Given the description of an element on the screen output the (x, y) to click on. 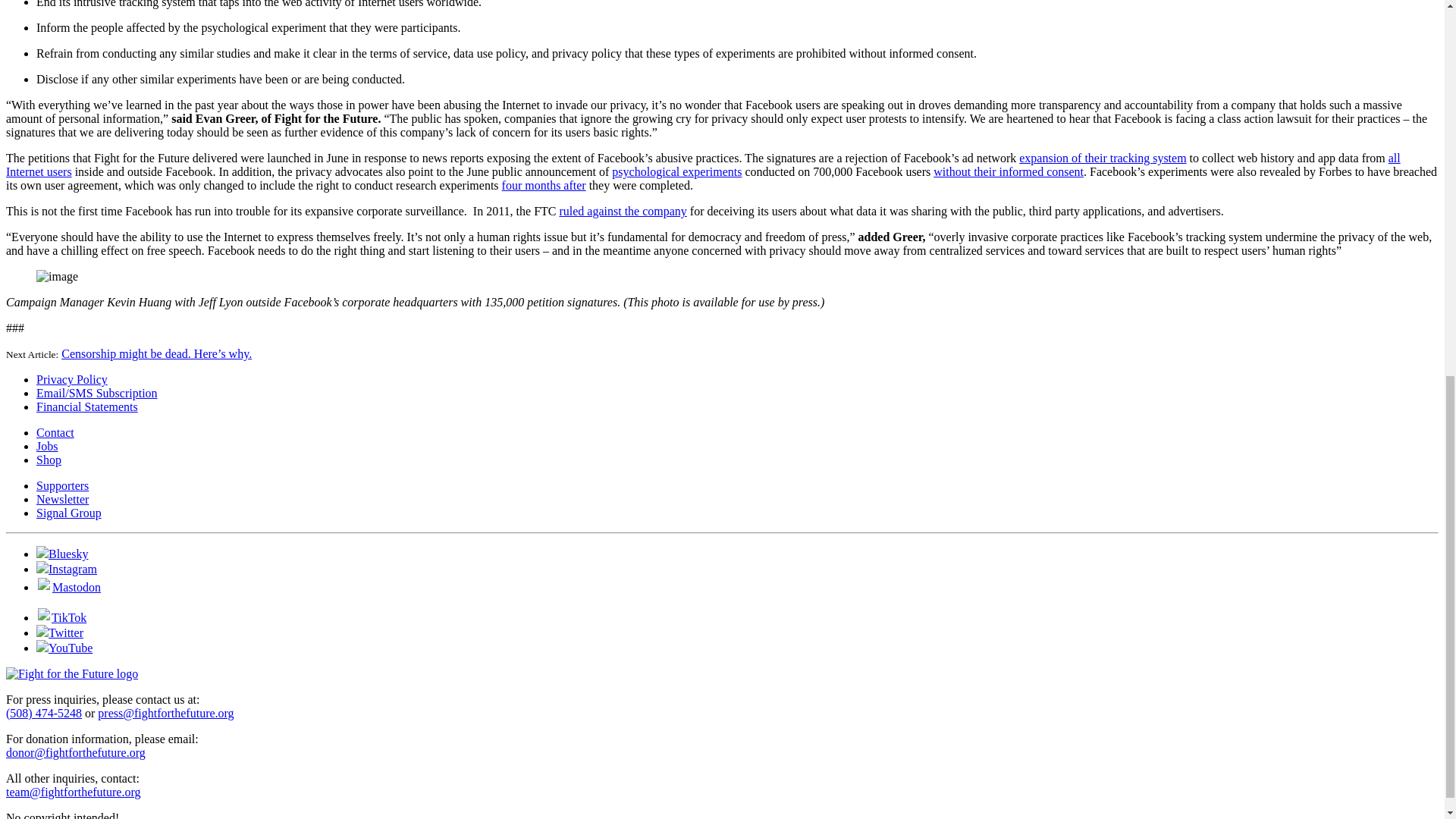
Bluesky (61, 553)
Financial Statements (87, 406)
Signal Group (68, 512)
expansion of their tracking system (1102, 157)
Supporters (62, 485)
Jobs (47, 445)
Contact (55, 431)
Shop (48, 459)
TikTok (60, 617)
Mastodon (68, 586)
